Given the description of an element on the screen output the (x, y) to click on. 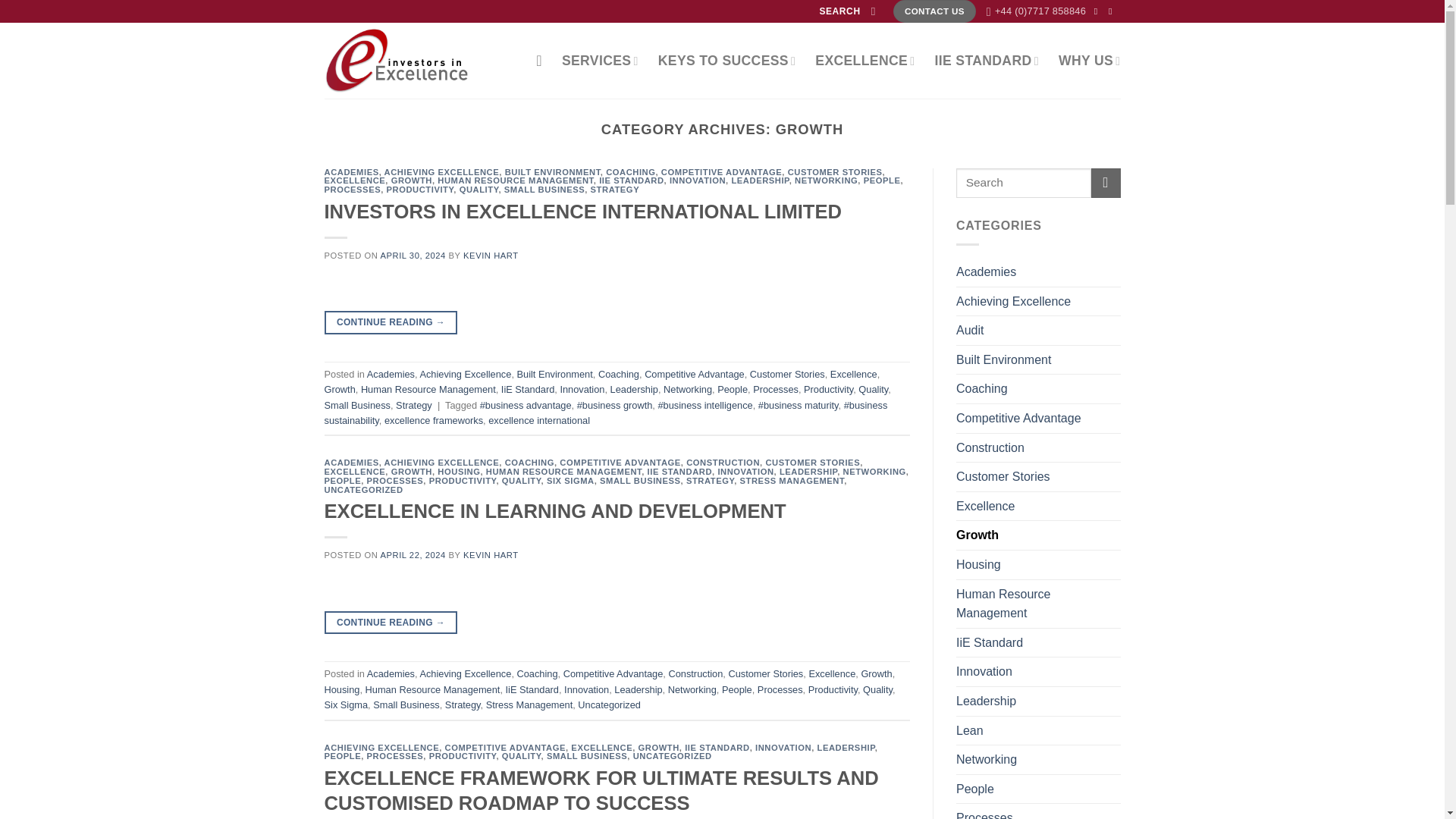
KEYS TO SUCCESS (727, 60)
EXCELLENCE (864, 60)
CONTACT US (934, 11)
SERVICES (600, 60)
